Given the description of an element on the screen output the (x, y) to click on. 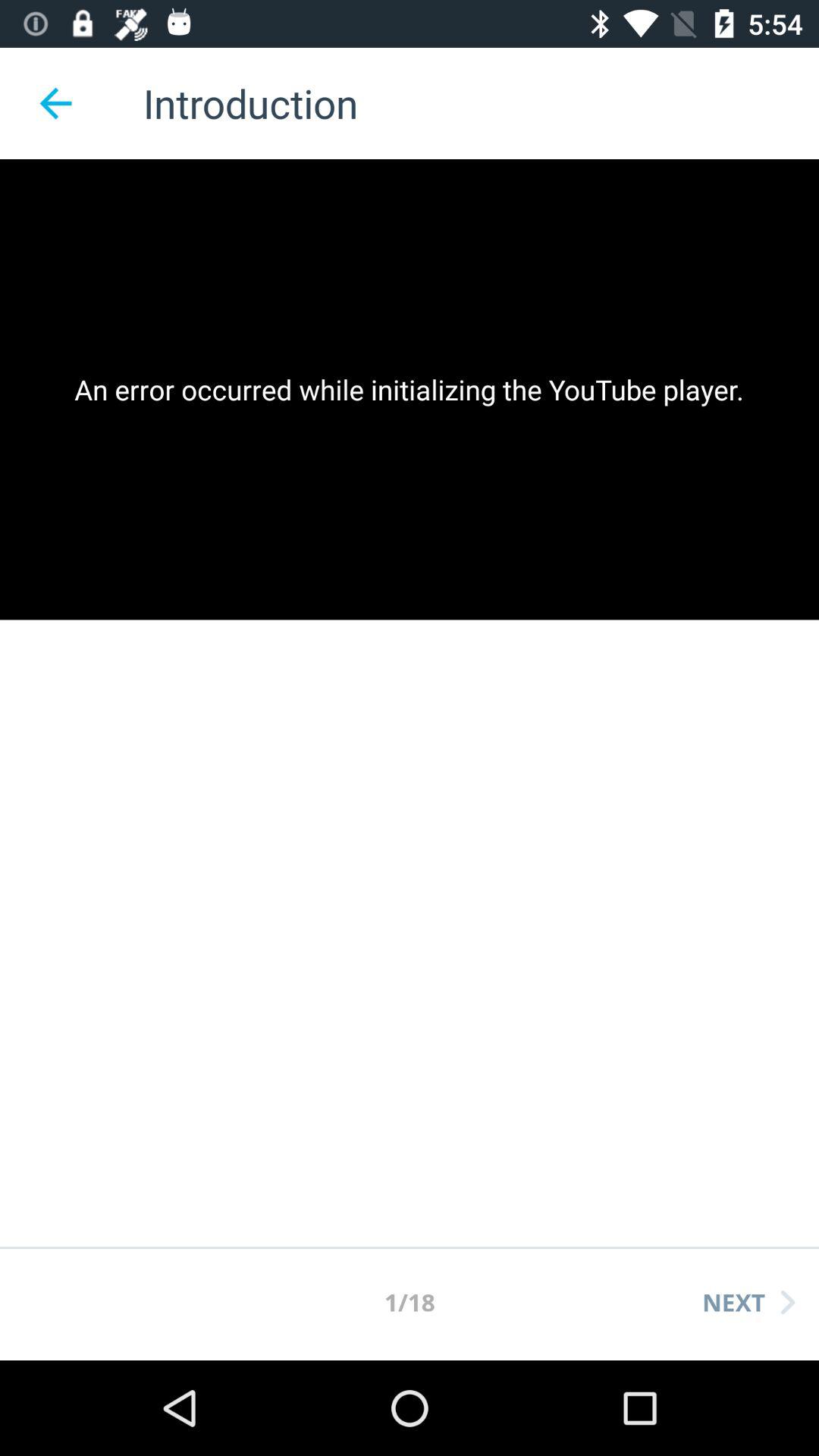
click the icon next to introduction icon (55, 103)
